Given the description of an element on the screen output the (x, y) to click on. 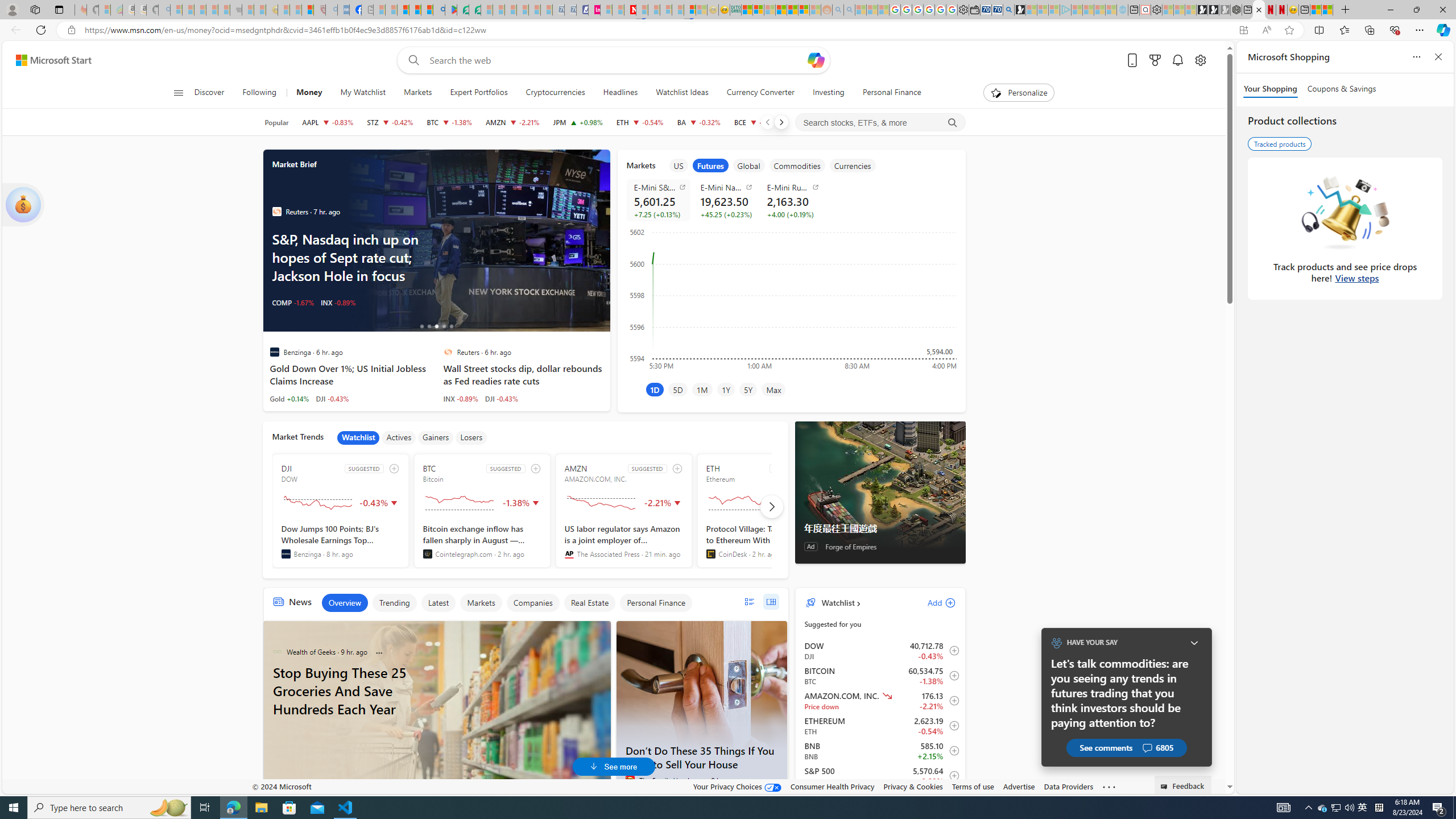
Bing Real Estate - Home sales and rental listings (1008, 9)
COMP -1.67% (293, 302)
AMZN SUGGESTED AMAZON.COM, INC. (623, 510)
STZ CONSTELLATION BRANDS, INC. decrease 243.70 -1.04 -0.42% (389, 122)
Losers (471, 437)
Gainers (435, 437)
